Given the description of an element on the screen output the (x, y) to click on. 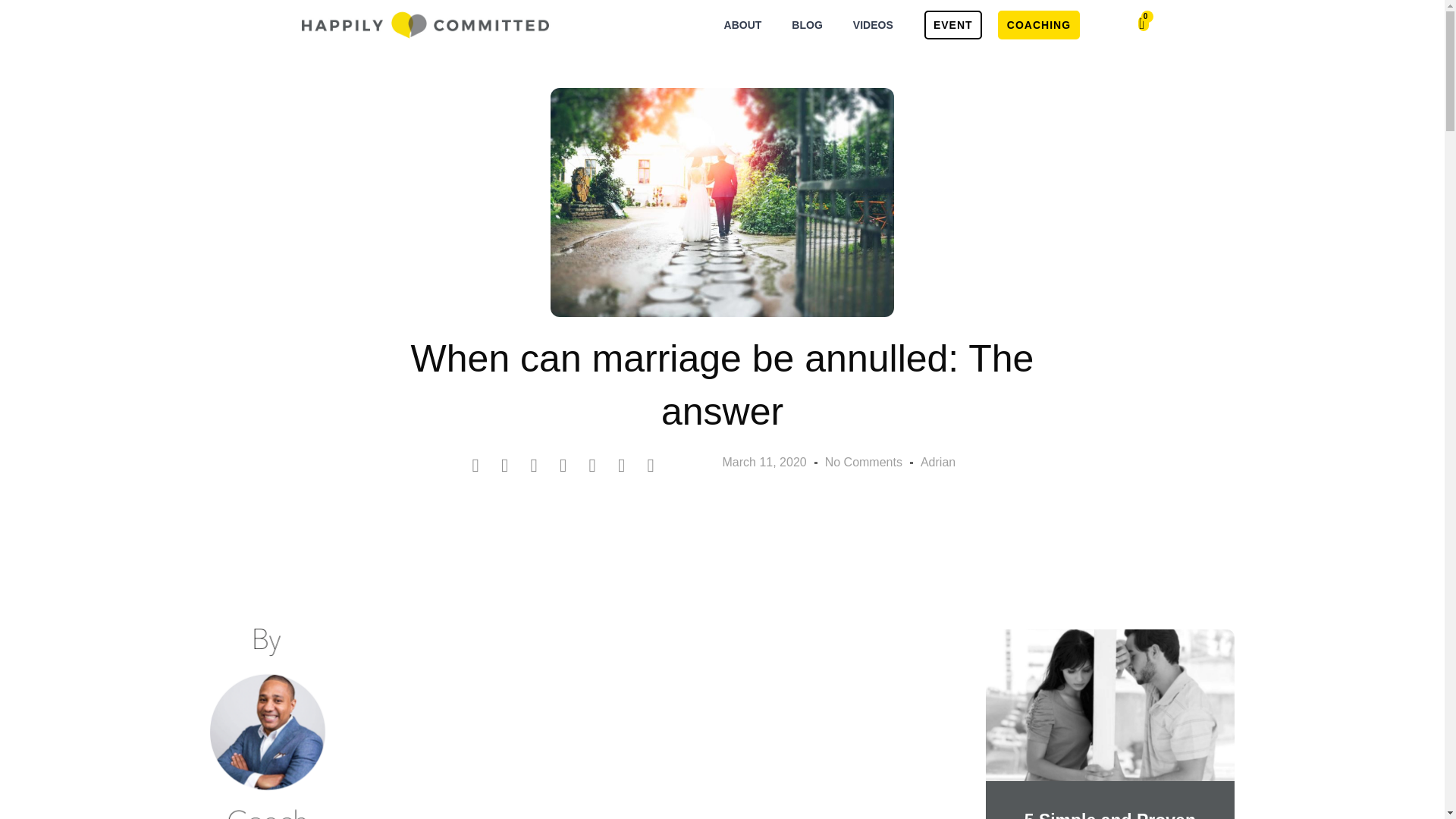
VIDEOS (873, 24)
ABOUT (743, 24)
COACHING (1038, 24)
EVENT (952, 24)
BLOG (806, 24)
